Given the description of an element on the screen output the (x, y) to click on. 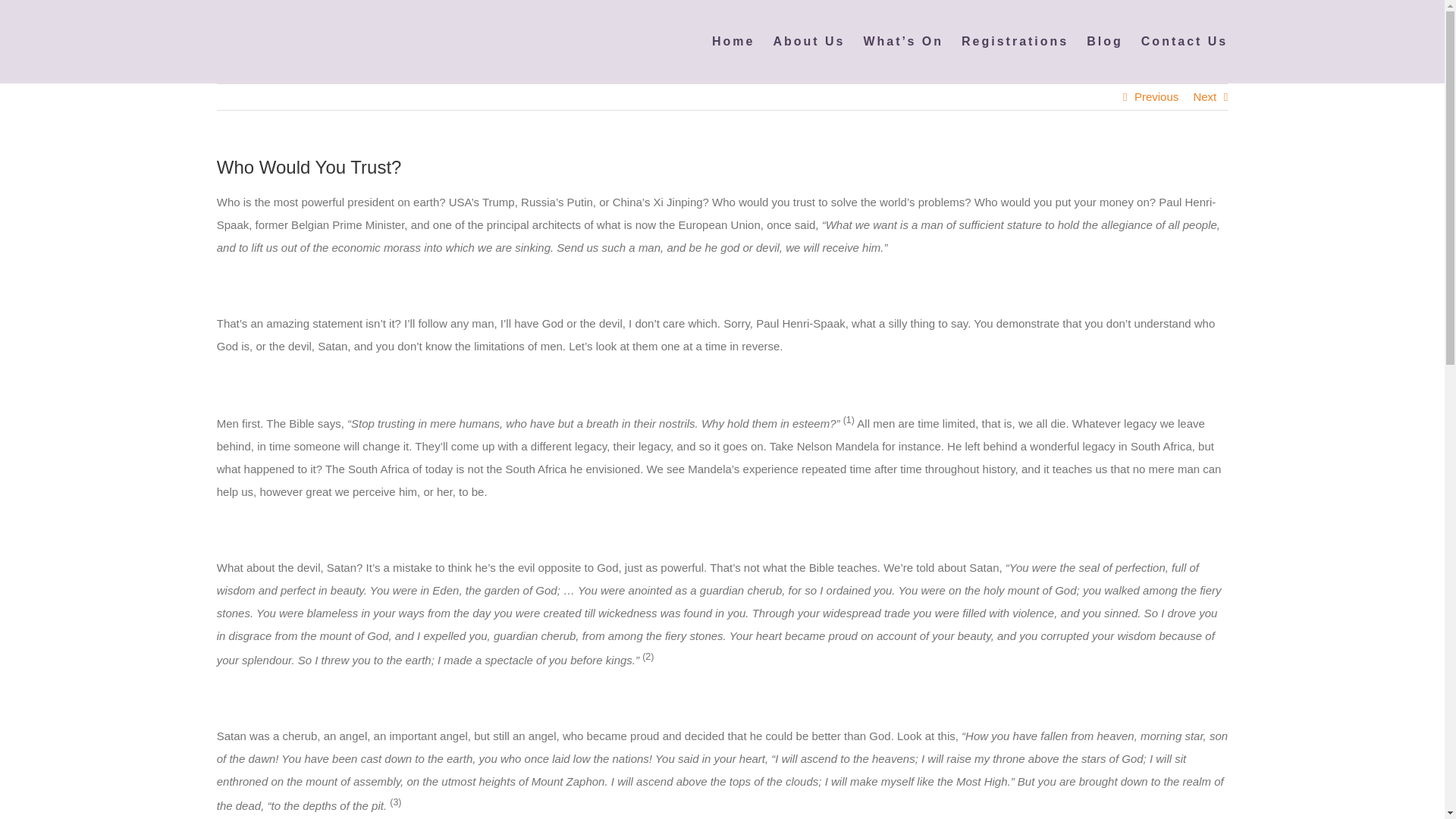
Contact Us (1184, 41)
About Us (808, 41)
Registrations (1014, 41)
Home (732, 41)
Blog (1104, 41)
